Given the description of an element on the screen output the (x, y) to click on. 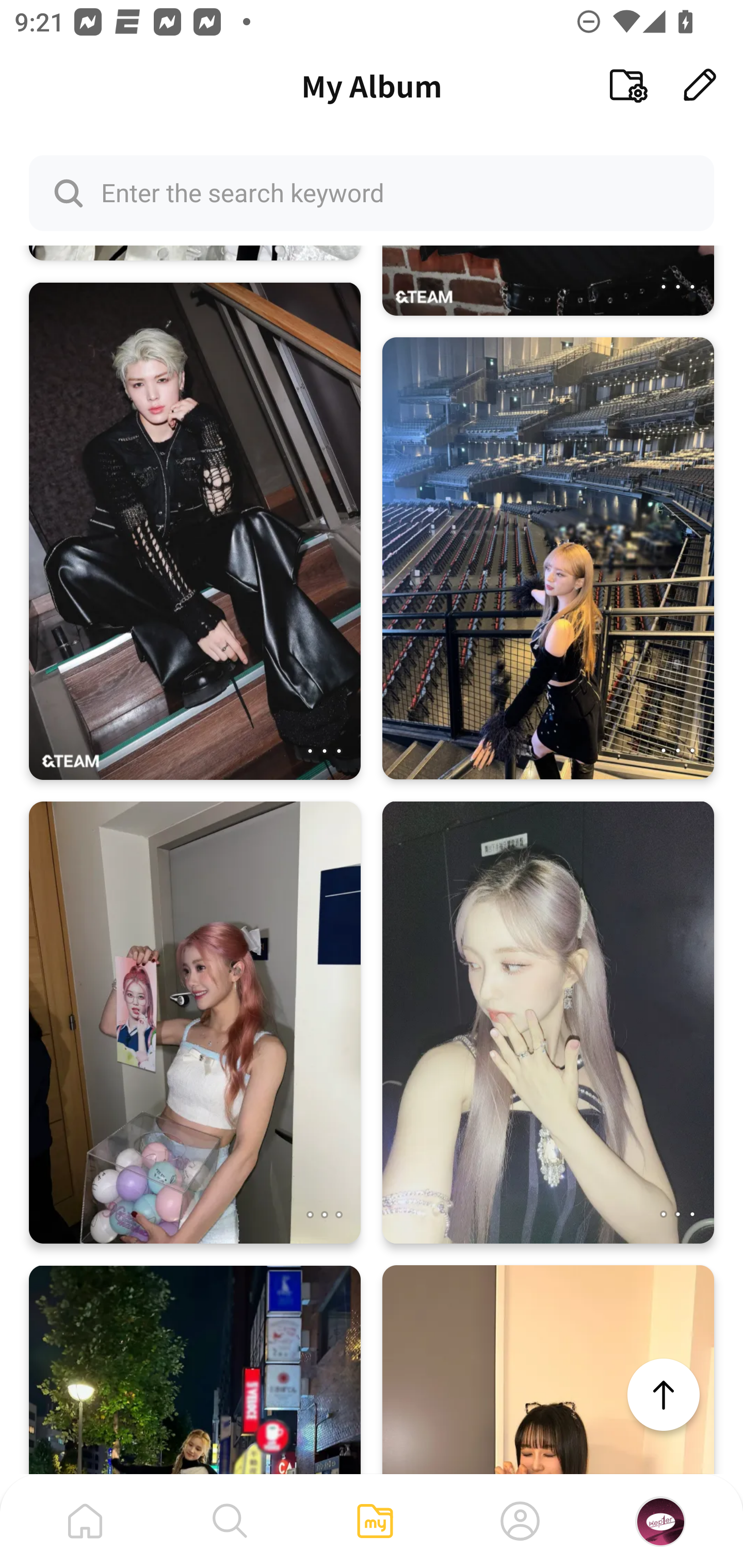
Enter the search keyword (371, 192)
